Given the description of an element on the screen output the (x, y) to click on. 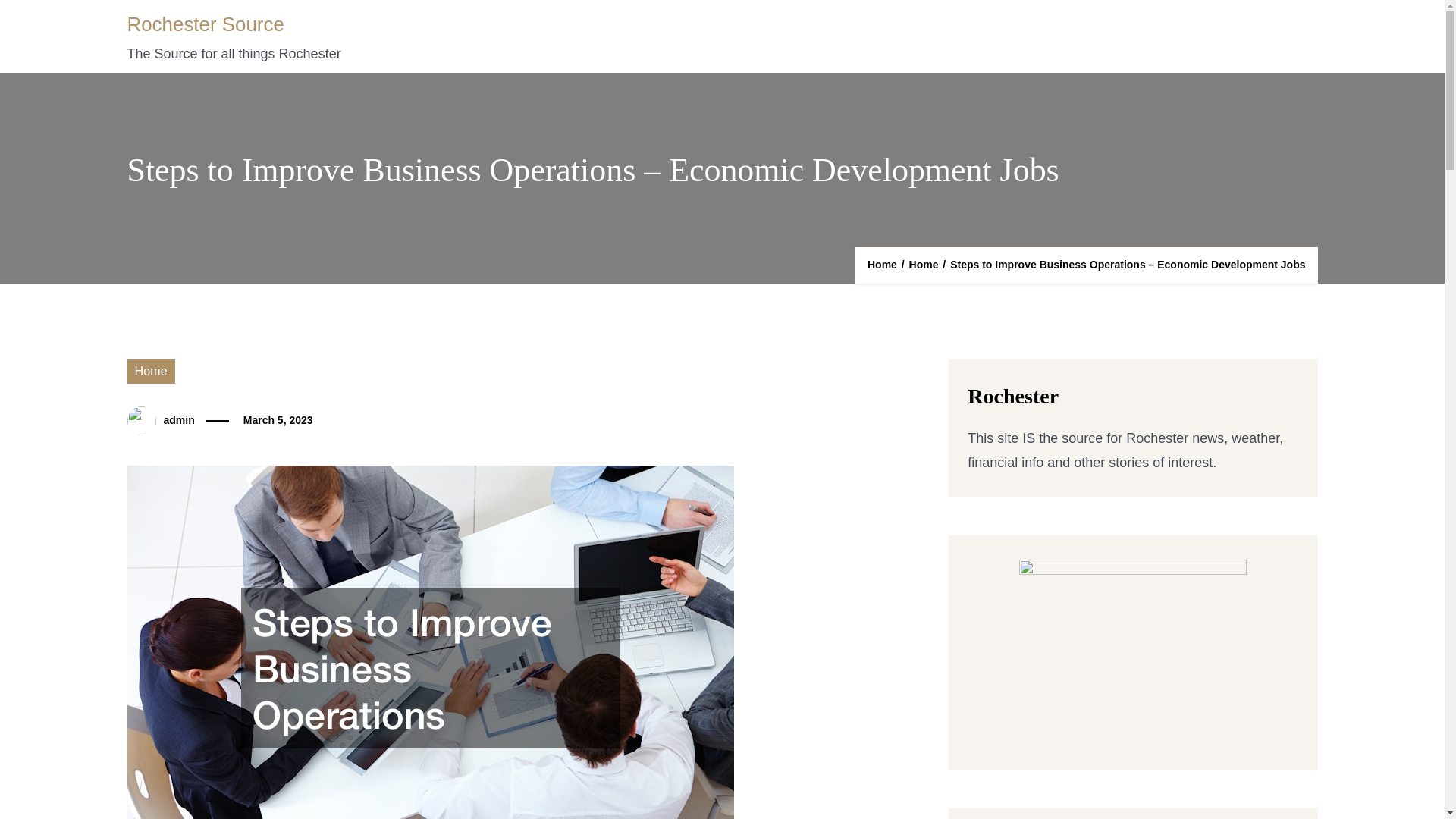
admin (179, 419)
Home (151, 371)
Home (923, 264)
March 5, 2023 (278, 419)
Home (882, 264)
Rochester Source (205, 24)
